Given the description of an element on the screen output the (x, y) to click on. 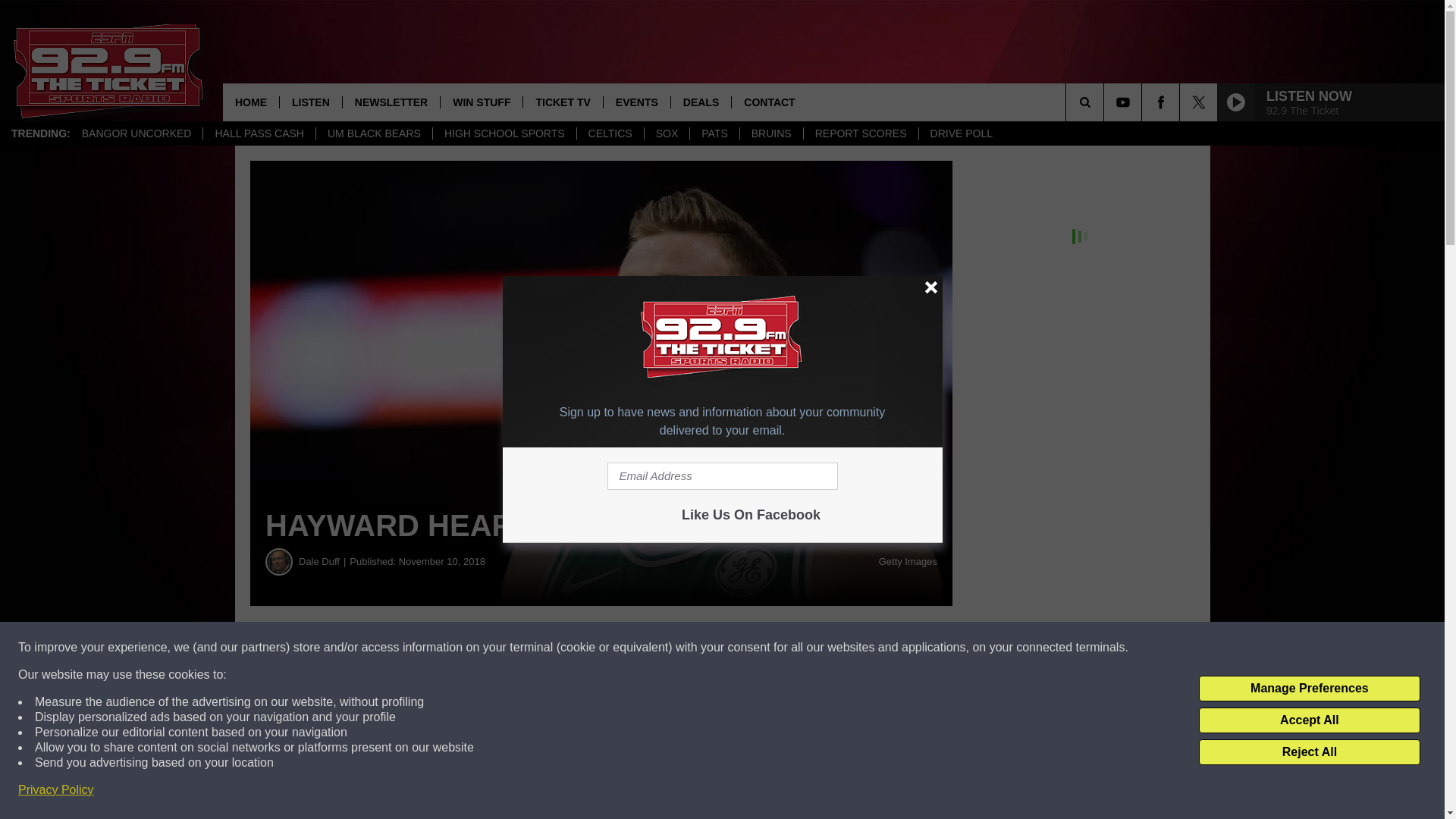
CELTICS (609, 133)
Share on Twitter (741, 647)
DRIVE POLL (961, 133)
EVENTS (635, 102)
CONTACT (768, 102)
WIN STUFF (480, 102)
HALL PASS CASH (258, 133)
DEALS (699, 102)
PATS (713, 133)
Share on Facebook (460, 647)
SEARCH (1106, 102)
BRUINS (771, 133)
Accept All (1309, 720)
BANGOR UNCORKED (136, 133)
NEWSLETTER (390, 102)
